Given the description of an element on the screen output the (x, y) to click on. 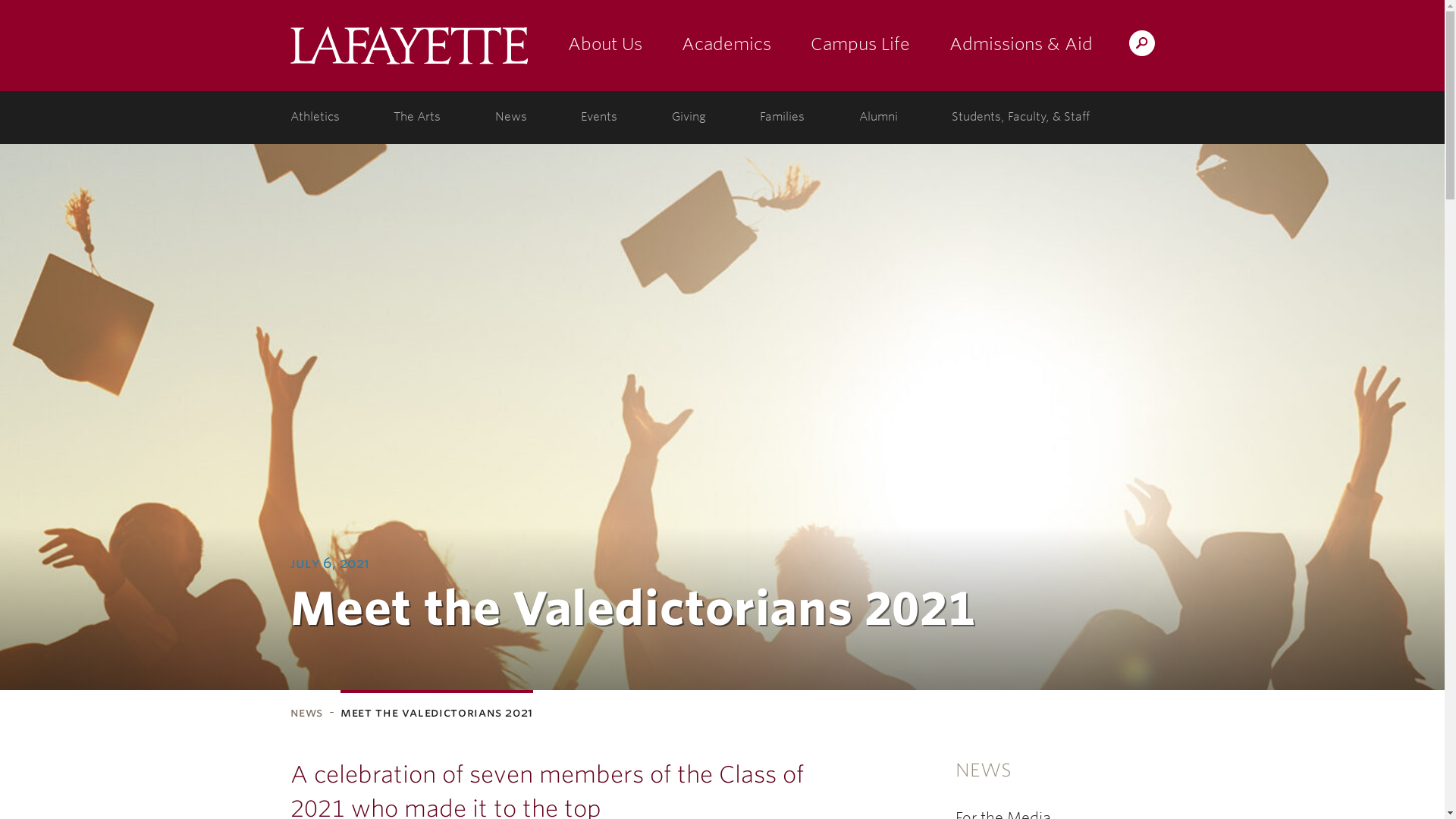
About Us (603, 45)
Campus Life (859, 45)
Search Lafayette.edu (1141, 43)
Search (842, 42)
Academics (725, 45)
Lafayette College (408, 45)
